Given the description of an element on the screen output the (x, y) to click on. 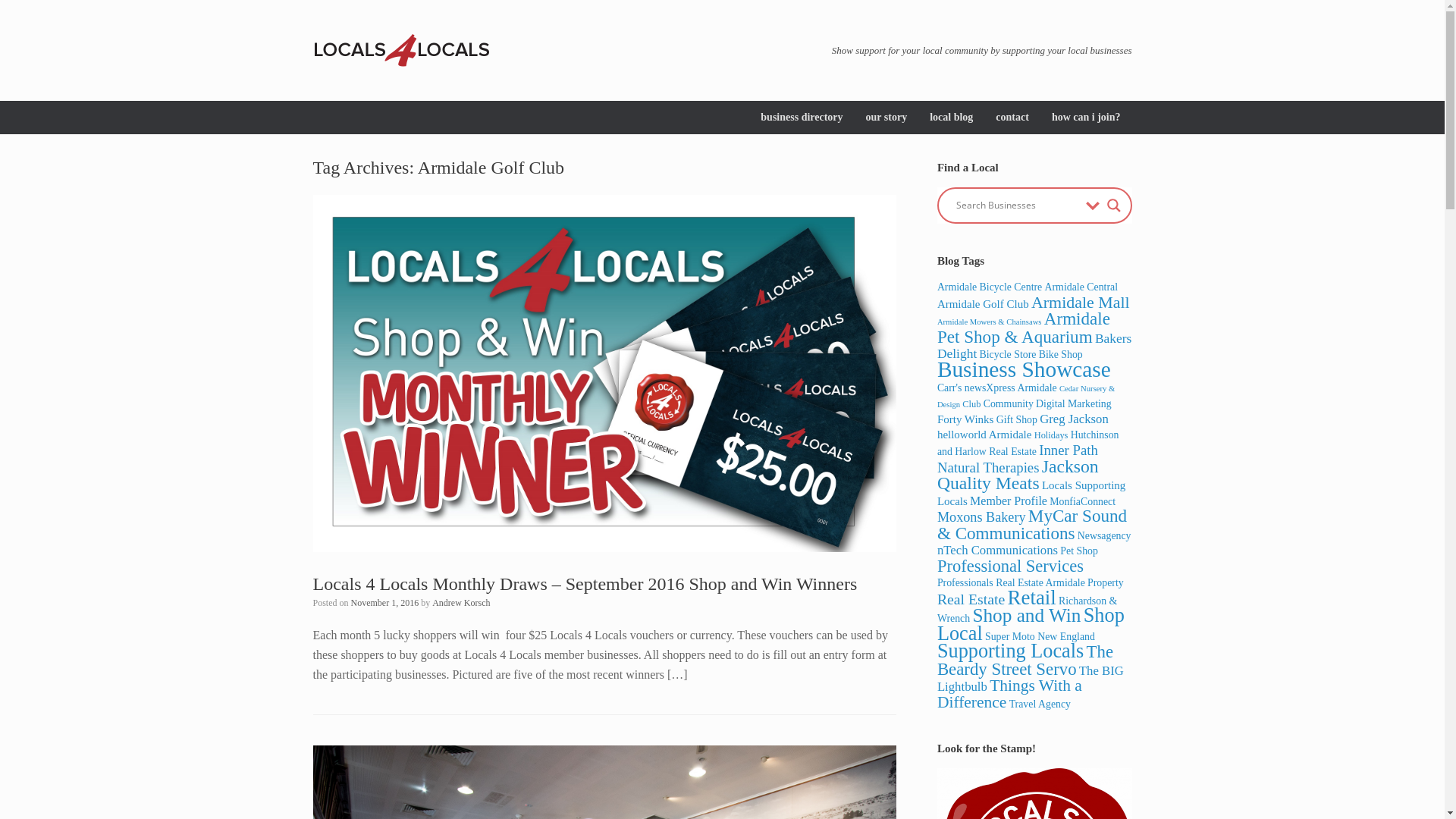
Andrew Korsch Element type: text (460, 602)
Bike Shop Element type: text (1060, 354)
Pet Shop Element type: text (1079, 550)
Locals Supporting Locals Element type: text (1031, 493)
The Beardy Street Servo Element type: text (1025, 660)
Professionals Real Estate Armidale Element type: text (1011, 582)
Digital Marketing Element type: text (1073, 402)
Hutchinson and Harlow Real Estate Element type: text (1028, 443)
Jackson Quality Meats Element type: text (1017, 474)
Newsagency Element type: text (1104, 534)
how can i join? Element type: text (1086, 117)
Club Element type: text (971, 403)
contact Element type: text (1012, 117)
Armidale Mowers & Chainsaws Element type: text (989, 321)
local blog Element type: text (951, 117)
Forty Winks Element type: text (965, 419)
business directory Element type: text (801, 117)
November 1, 2016 Element type: text (385, 602)
Armidale Golf Club Element type: text (983, 303)
Armidale Central Element type: text (1081, 286)
nTech Communications Element type: text (997, 549)
Member Profile Element type: text (1008, 500)
Supporting Locals Element type: text (1010, 651)
Real Estate Element type: text (970, 597)
Holidays Element type: text (1051, 434)
Bicycle Store Element type: text (1007, 354)
Moxons Bakery Element type: text (981, 516)
Richardson & Wrench Element type: text (1027, 609)
Locals 4 Locals Element type: hover (400, 50)
Armidale Pet Shop & Aquarium Element type: text (1023, 327)
Carr's newsXpress Armidale Element type: text (997, 387)
Shop and Win Element type: text (1026, 614)
Property Element type: text (1105, 582)
Professional Services Element type: text (1010, 565)
Retail Element type: text (1031, 596)
Travel Agency Element type: text (1039, 703)
Community Element type: text (1008, 402)
Armidale Mall Element type: text (1080, 301)
Inner Path Natural Therapies Element type: text (1017, 458)
Shop Local Element type: text (1030, 624)
Bakers Delight Element type: text (1034, 345)
our story Element type: text (886, 117)
Business Showcase Element type: text (1023, 368)
The BIG Lightbulb Element type: text (1030, 677)
helloworld Armidale Element type: text (984, 433)
Greg Jackson Element type: text (1073, 418)
Cedar Nursery & Design Element type: text (1025, 396)
Armidale Bicycle Centre Element type: text (989, 286)
MyCar Sound & Communications Element type: text (1031, 523)
Things With a Difference Element type: text (1009, 693)
MonfiaConnect Element type: text (1082, 501)
Super Moto New England Element type: text (1040, 636)
Gift Shop Element type: text (1016, 419)
